Given the description of an element on the screen output the (x, y) to click on. 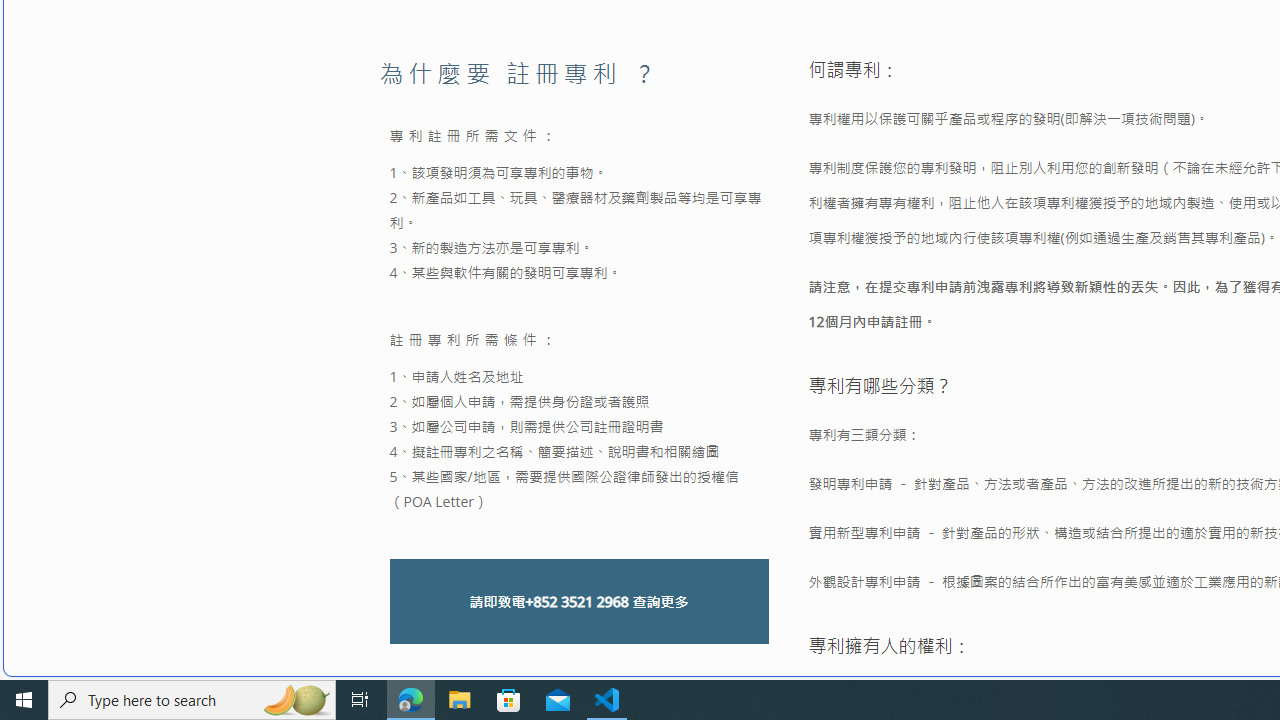
+852 3521 2968 (576, 601)
